Given the description of an element on the screen output the (x, y) to click on. 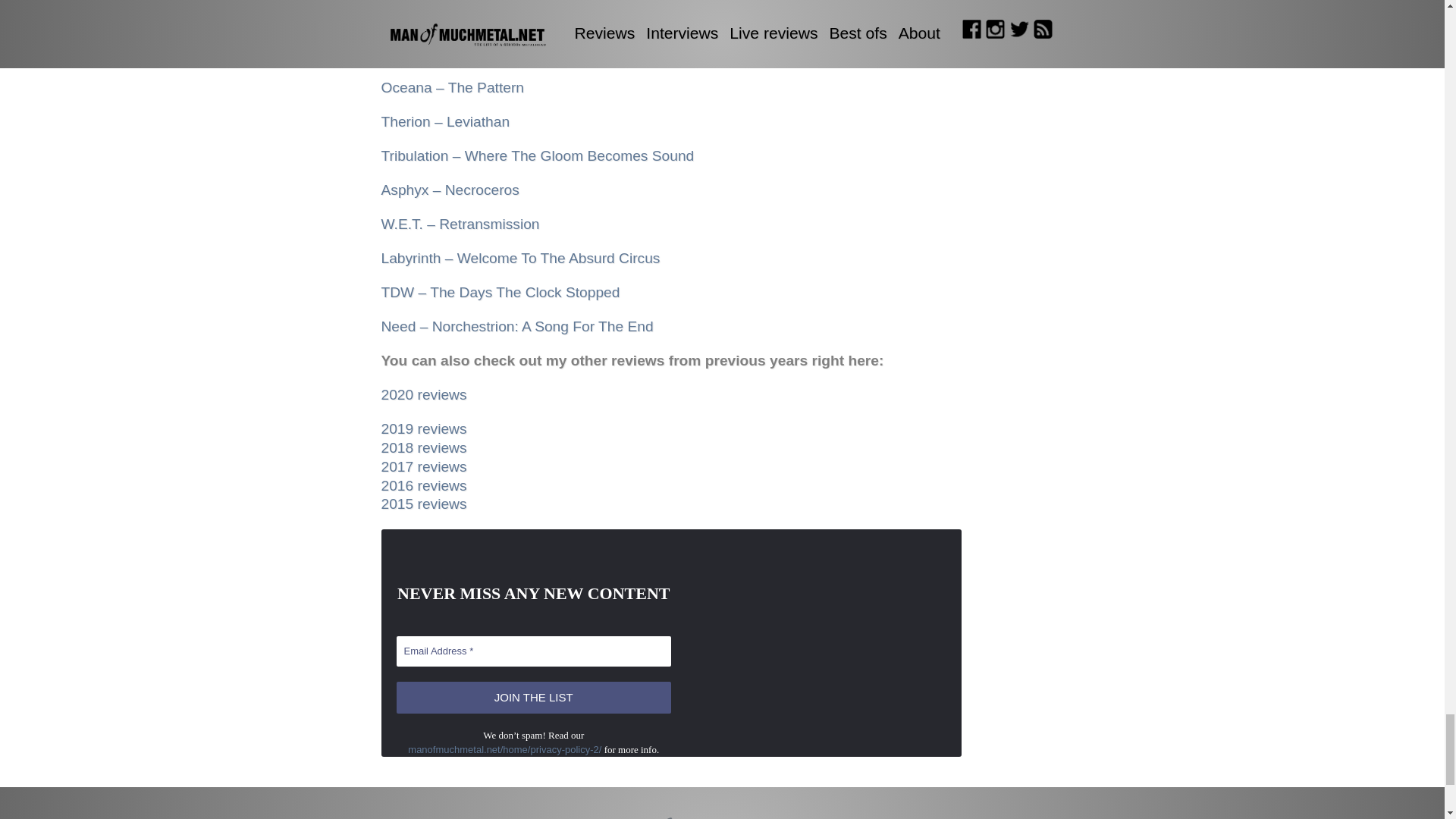
JOIN THE LIST (533, 697)
Email Address (533, 651)
